Given the description of an element on the screen output the (x, y) to click on. 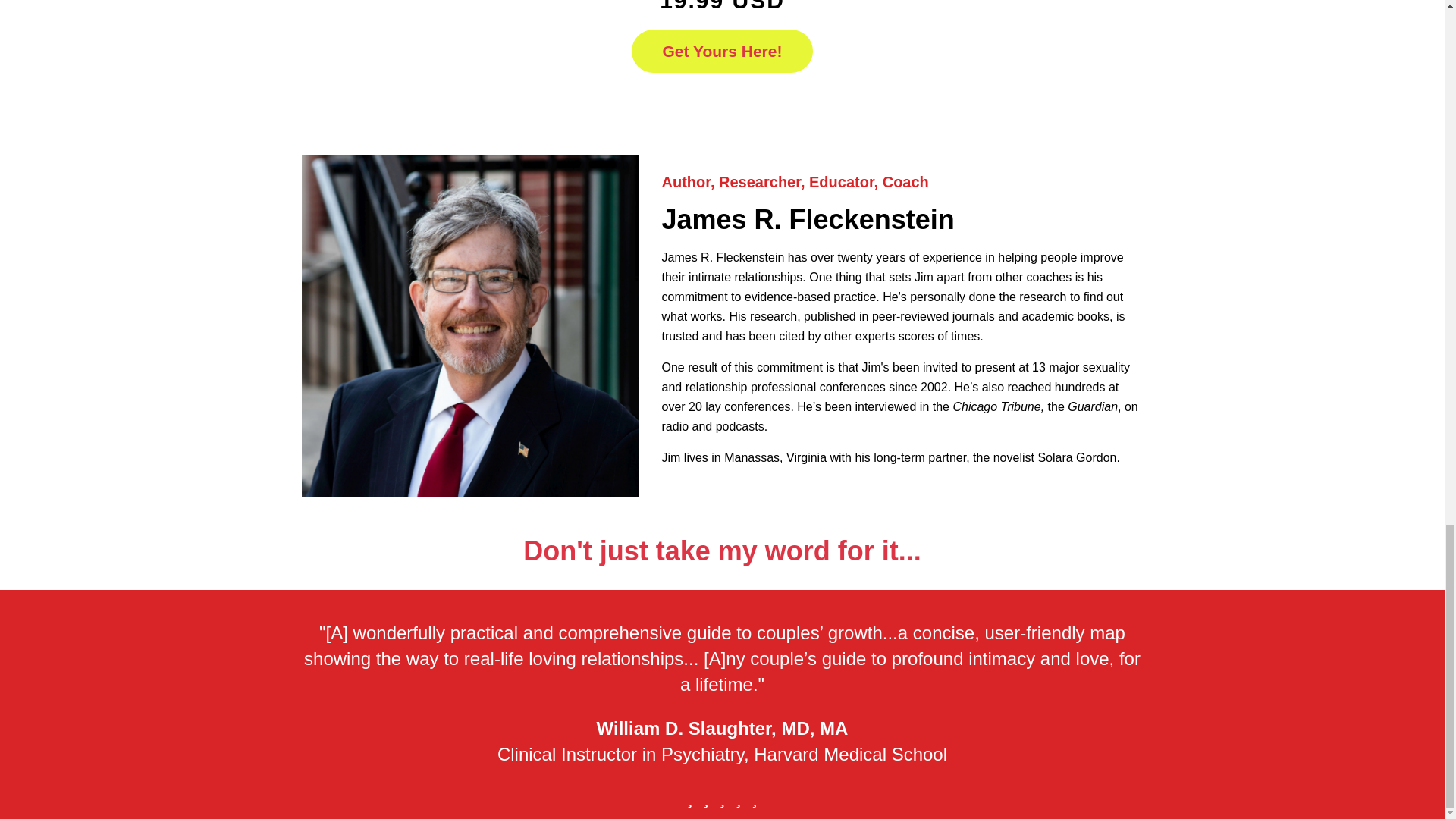
Get Yours Here! (722, 51)
